Given the description of an element on the screen output the (x, y) to click on. 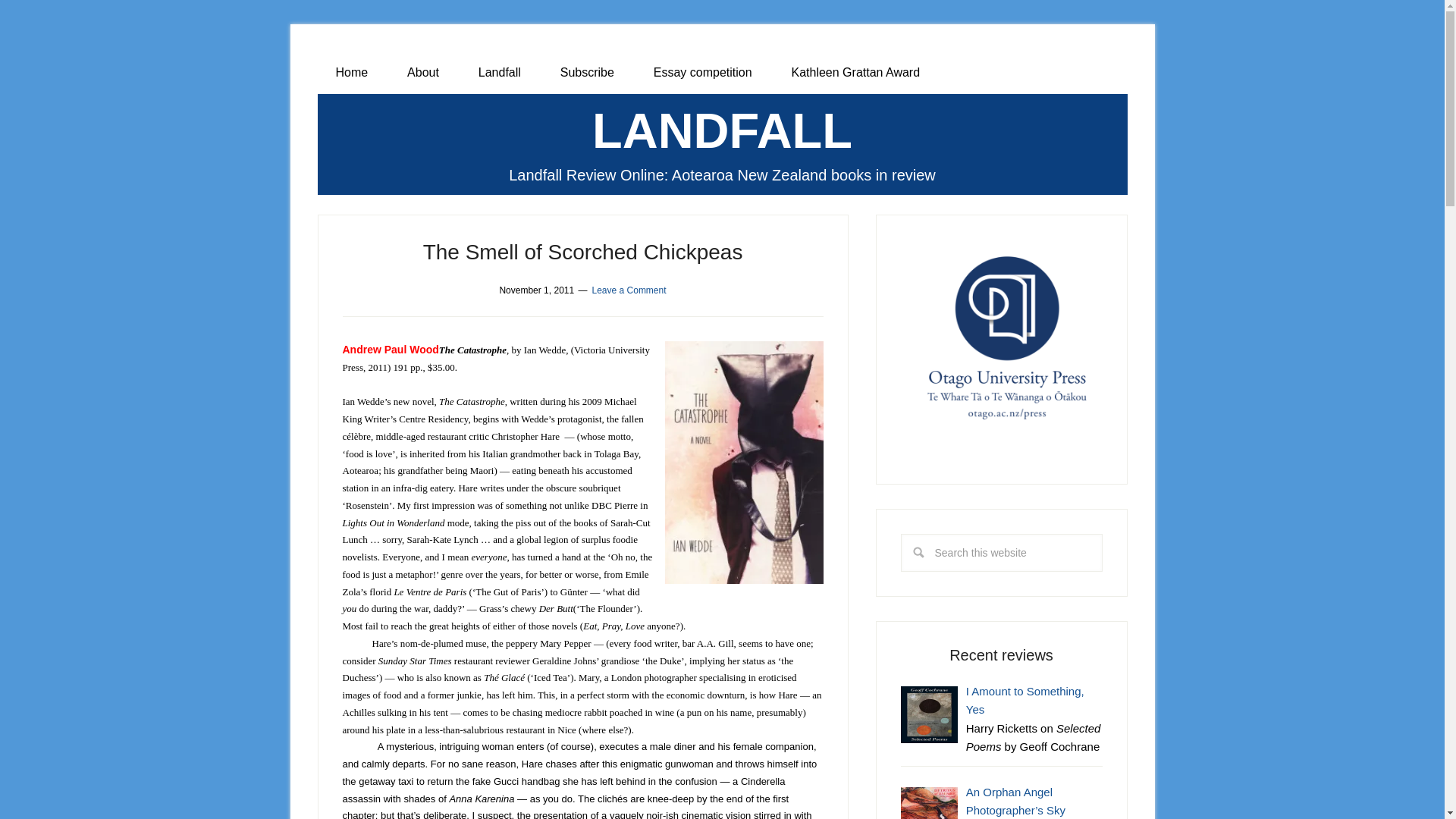
Landfall (499, 72)
Subscribe (586, 72)
About (422, 72)
LANDFALL (721, 130)
Home (351, 72)
Otago University Press (1001, 340)
Leave a Comment (628, 290)
Kathleen Grattan Award (856, 72)
